Given the description of an element on the screen output the (x, y) to click on. 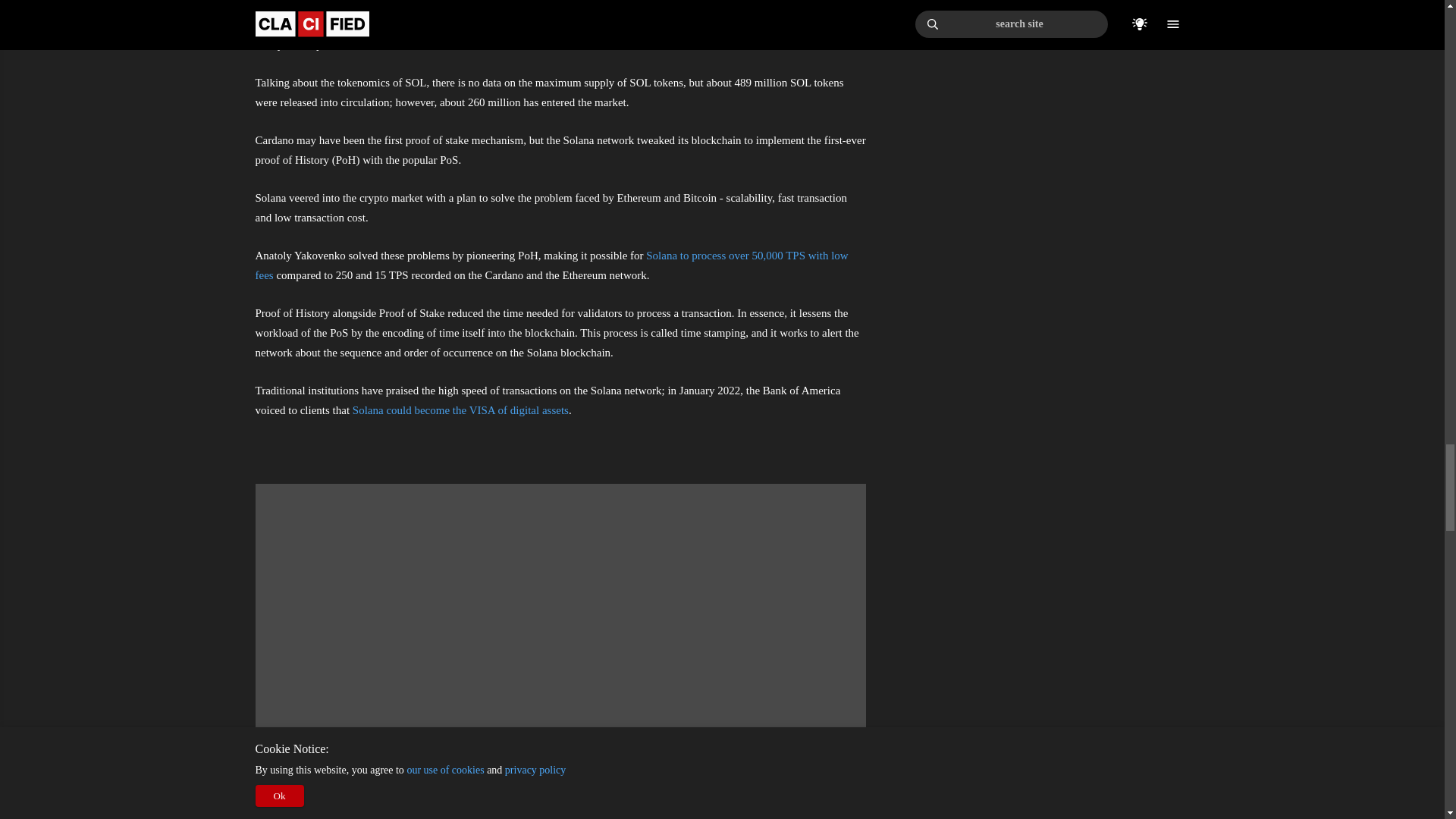
Solana (269, 5)
Solana to process over 50,000 TPS with low fees (550, 265)
